Given the description of an element on the screen output the (x, y) to click on. 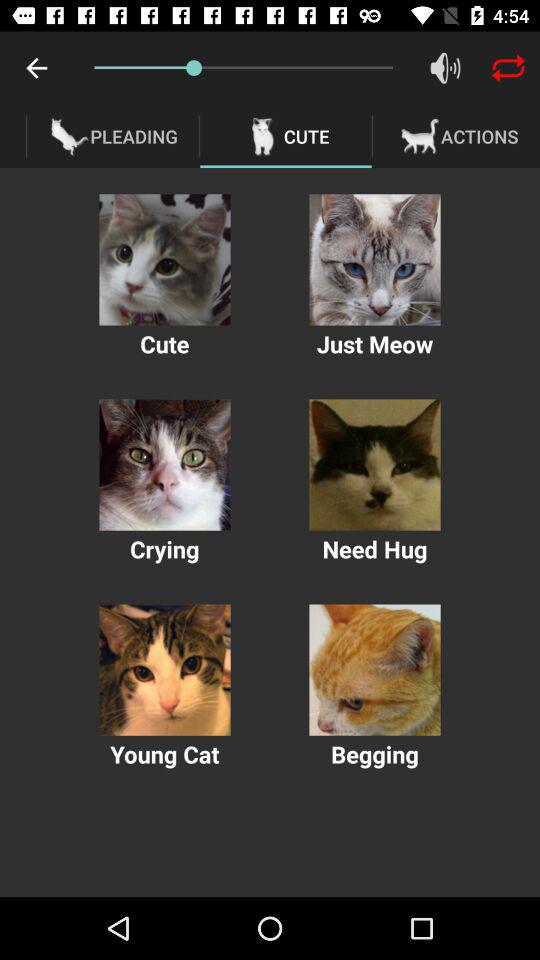
the yellow cat that appears to be begging (374, 669)
